Given the description of an element on the screen output the (x, y) to click on. 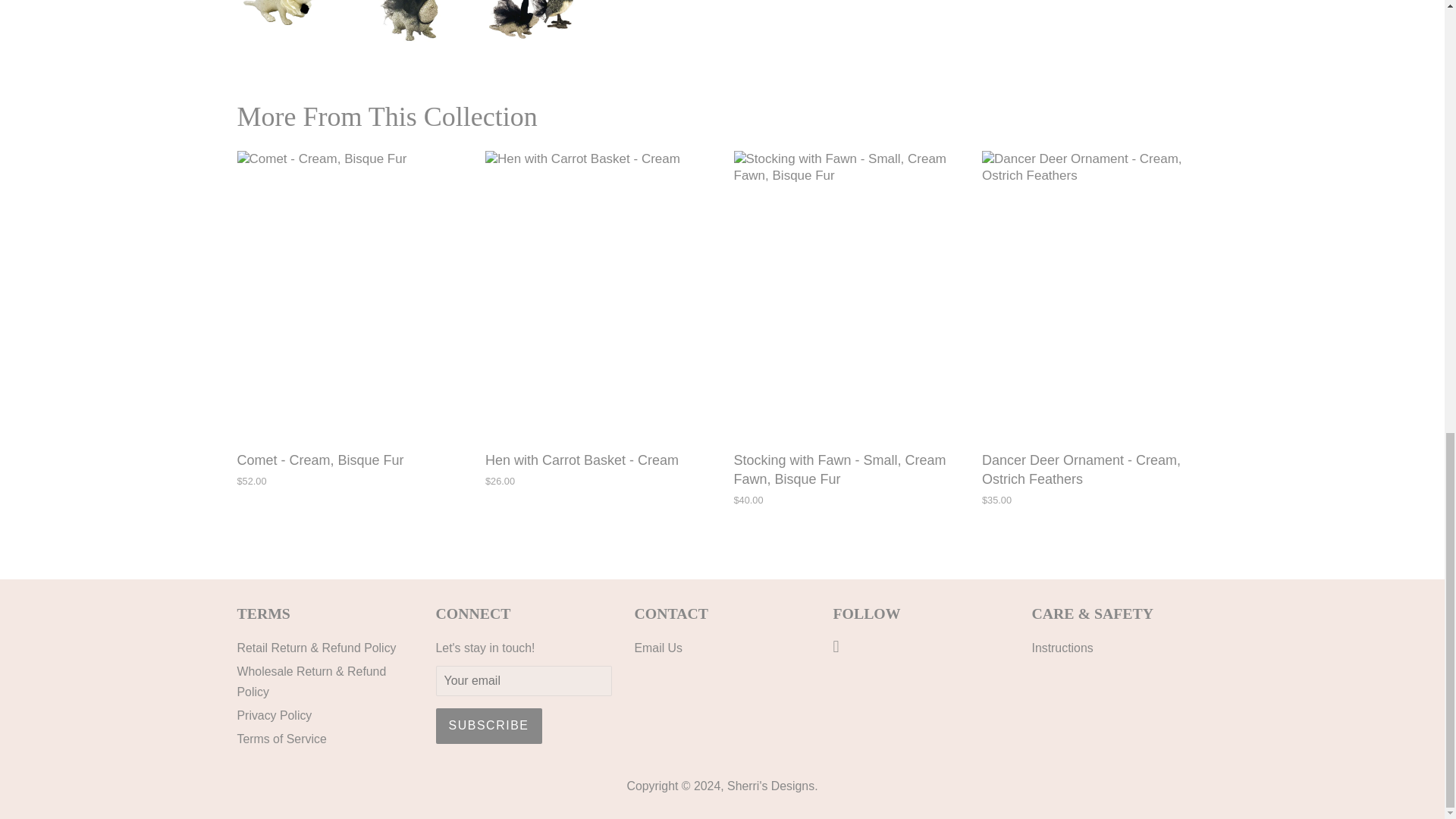
Subscribe (488, 725)
Contact (648, 647)
